Given the description of an element on the screen output the (x, y) to click on. 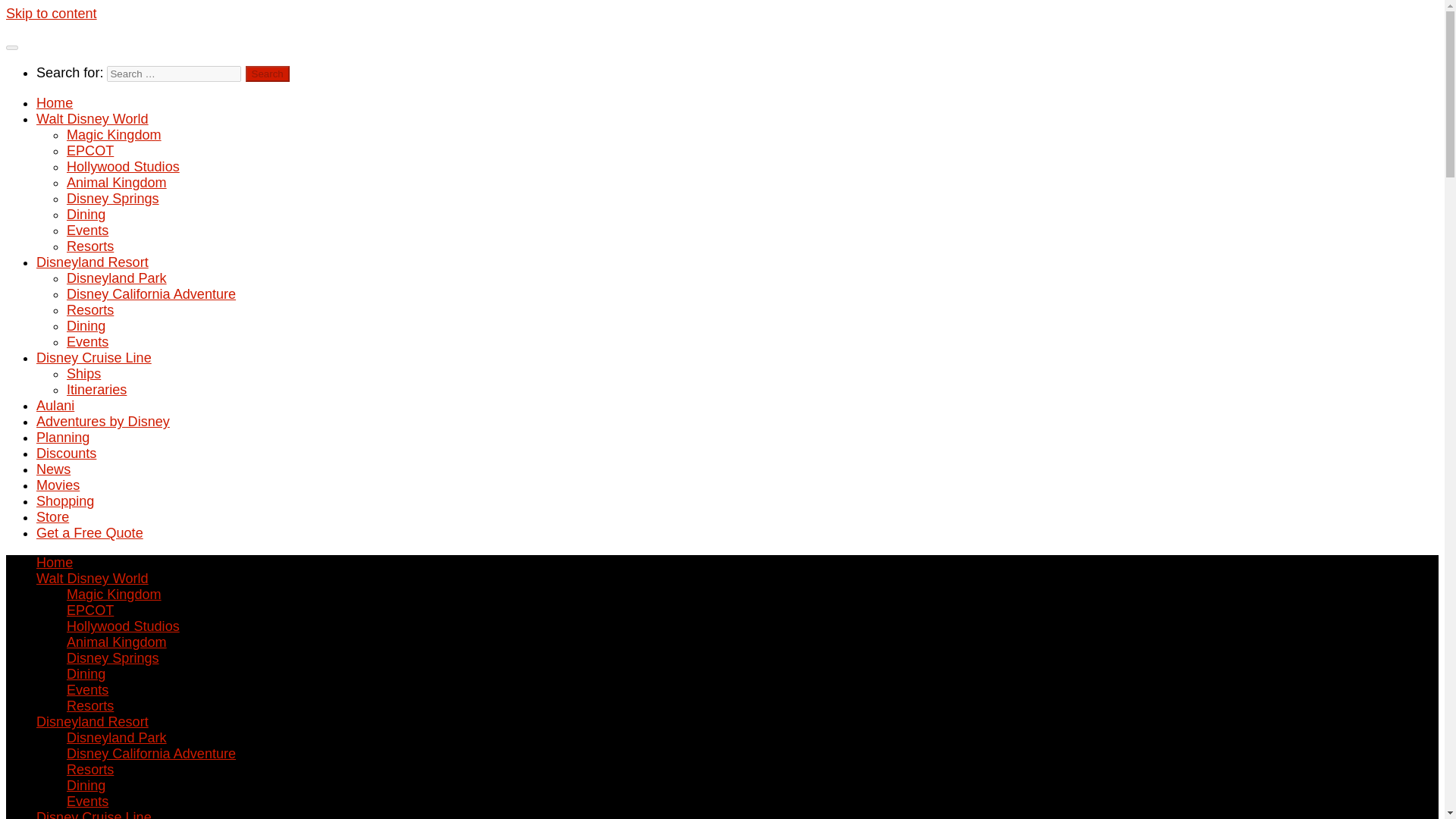
Home (54, 562)
Hollywood Studios (122, 626)
Discounts (66, 453)
Disneyland Park (116, 278)
Dining (85, 325)
EPCOT (89, 150)
Store (52, 516)
Disneyland Resort (92, 262)
Skip to content (51, 13)
Resorts (89, 246)
